Given the description of an element on the screen output the (x, y) to click on. 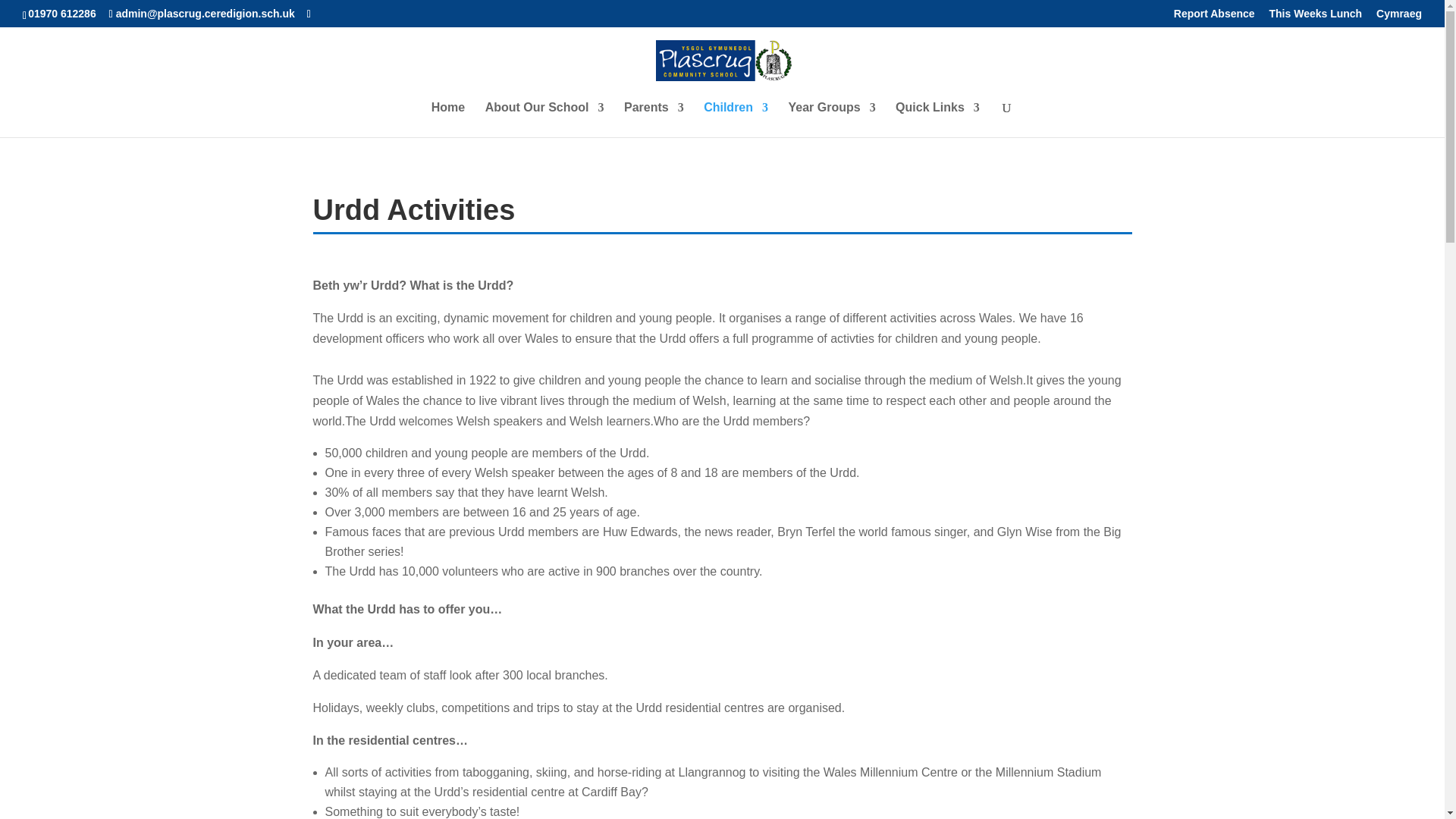
Parents (654, 119)
Cymraeg (1398, 16)
This Weeks Lunch (1315, 16)
Children (735, 119)
Cymraeg (1398, 16)
Home (447, 119)
Report Absence (1214, 16)
About Our School (544, 119)
Year Groups (831, 119)
